Given the description of an element on the screen output the (x, y) to click on. 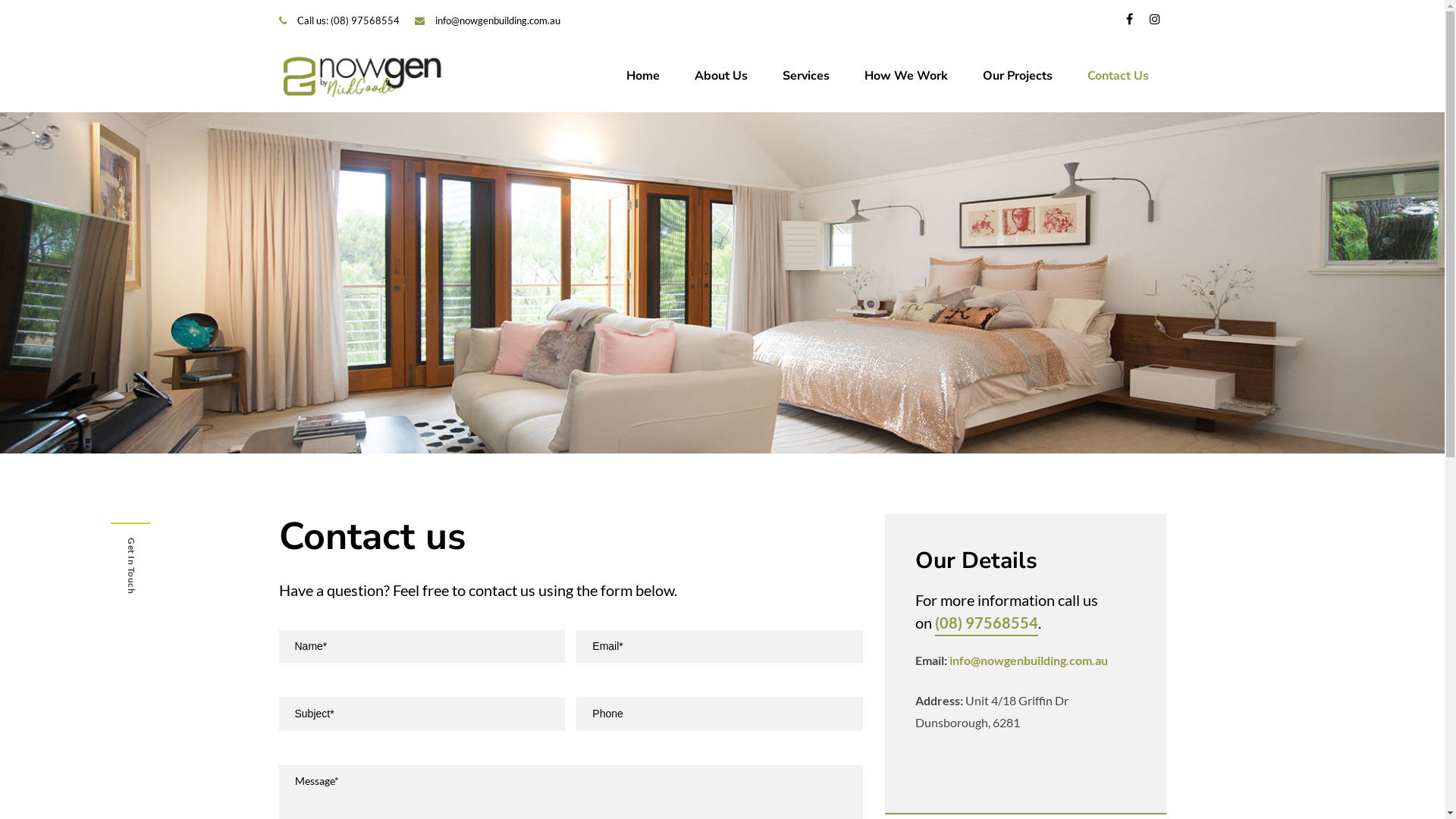
Services Element type: text (805, 76)
How We Work Element type: text (905, 76)
info@nowgenbuilding.com.au Element type: text (1028, 659)
Contact Us Element type: text (1117, 76)
NowGen Homes Element type: hover (362, 75)
(08) 97568554 Element type: text (986, 624)
info@nowgenbuilding.com.au Element type: text (497, 20)
(08) 97568554 Element type: text (364, 20)
Home Element type: text (642, 76)
Our Projects Element type: text (1016, 76)
About Us Element type: text (720, 76)
